Given the description of an element on the screen output the (x, y) to click on. 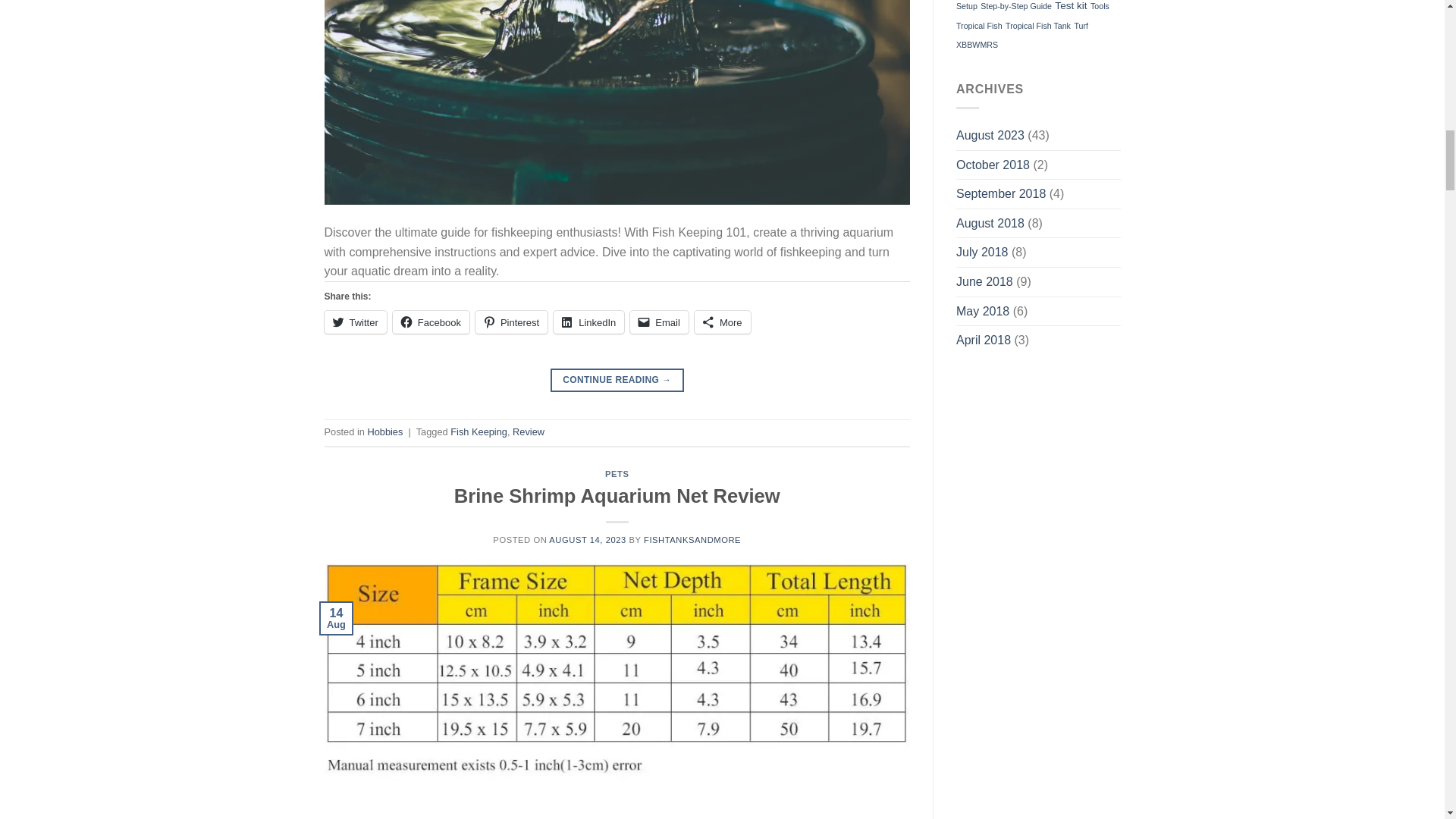
Click to email a link to a friend (659, 322)
Click to share on LinkedIn (588, 322)
Click to share on Pinterest (511, 322)
Click to share on Facebook (430, 322)
Click to share on Twitter (355, 322)
